Given the description of an element on the screen output the (x, y) to click on. 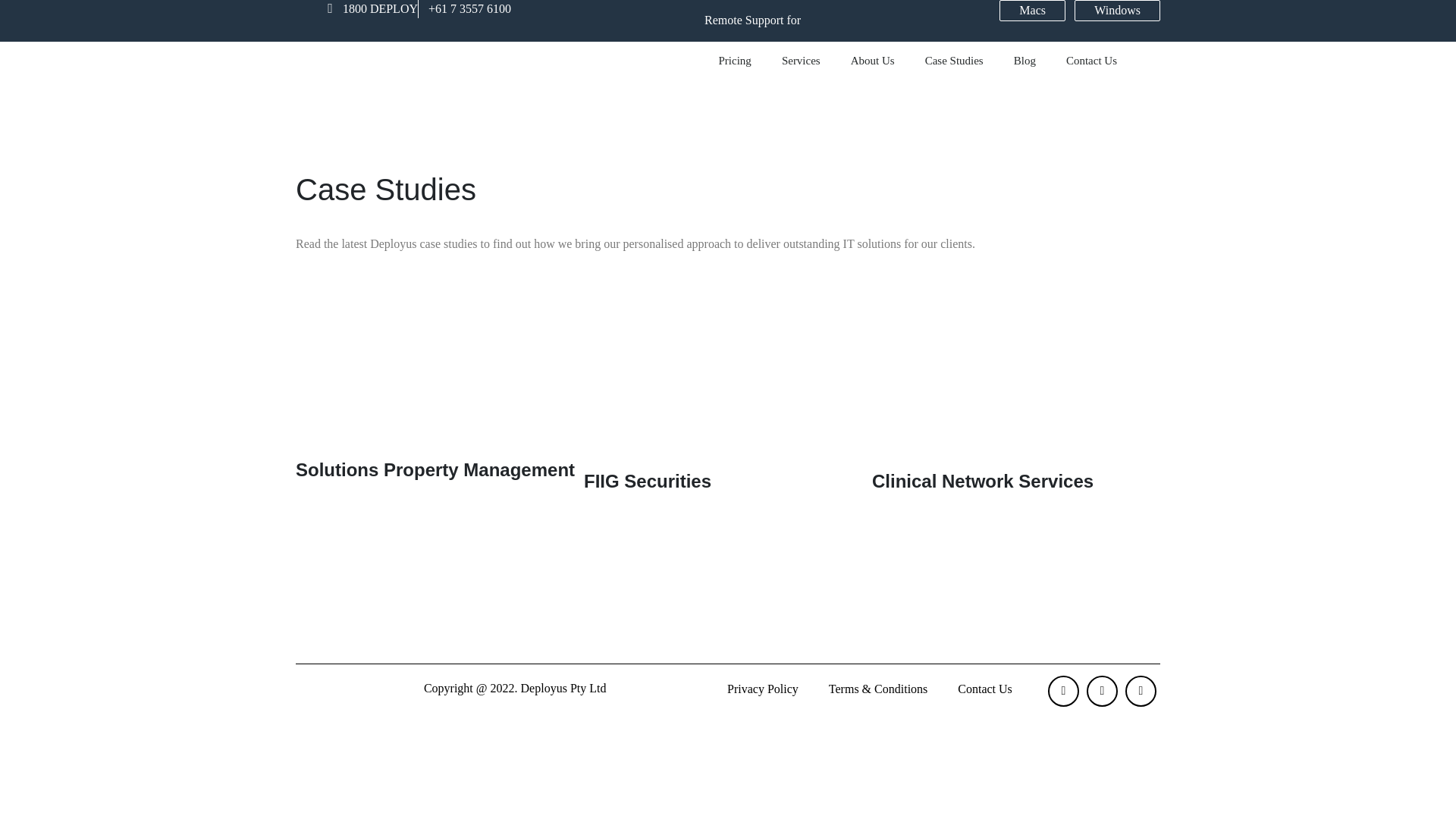
Contact Us Element type: text (1091, 60)
Terms & Conditions Element type: text (877, 688)
+61 7 3557 6100 Element type: text (464, 9)
Macs Element type: text (1032, 10)
Blog Element type: text (1024, 60)
Pricing Element type: text (734, 60)
Contact Us Element type: text (984, 688)
Services Element type: text (800, 60)
About Us Element type: text (872, 60)
Case Studies Element type: text (954, 60)
Privacy Policy Element type: text (762, 688)
1800 DEPLOY Element type: text (366, 9)
Windows Element type: text (1117, 10)
